Given the description of an element on the screen output the (x, y) to click on. 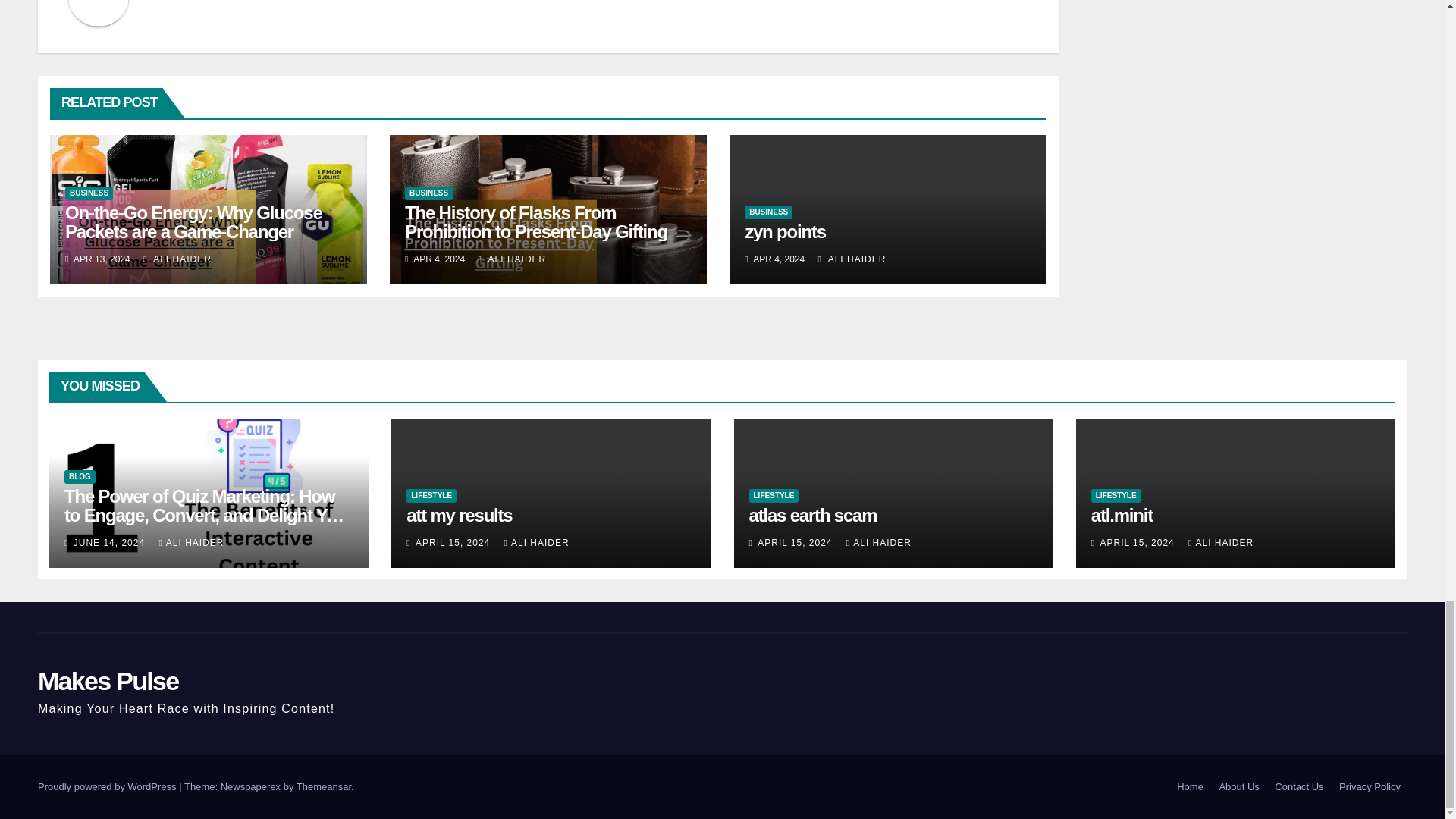
BUSINESS (428, 192)
ALI HAIDER (176, 258)
BUSINESS (89, 192)
On-the-Go Energy: Why Glucose Packets are a Game-Changer (193, 221)
Permalink to: zyn points (784, 231)
